Given the description of an element on the screen output the (x, y) to click on. 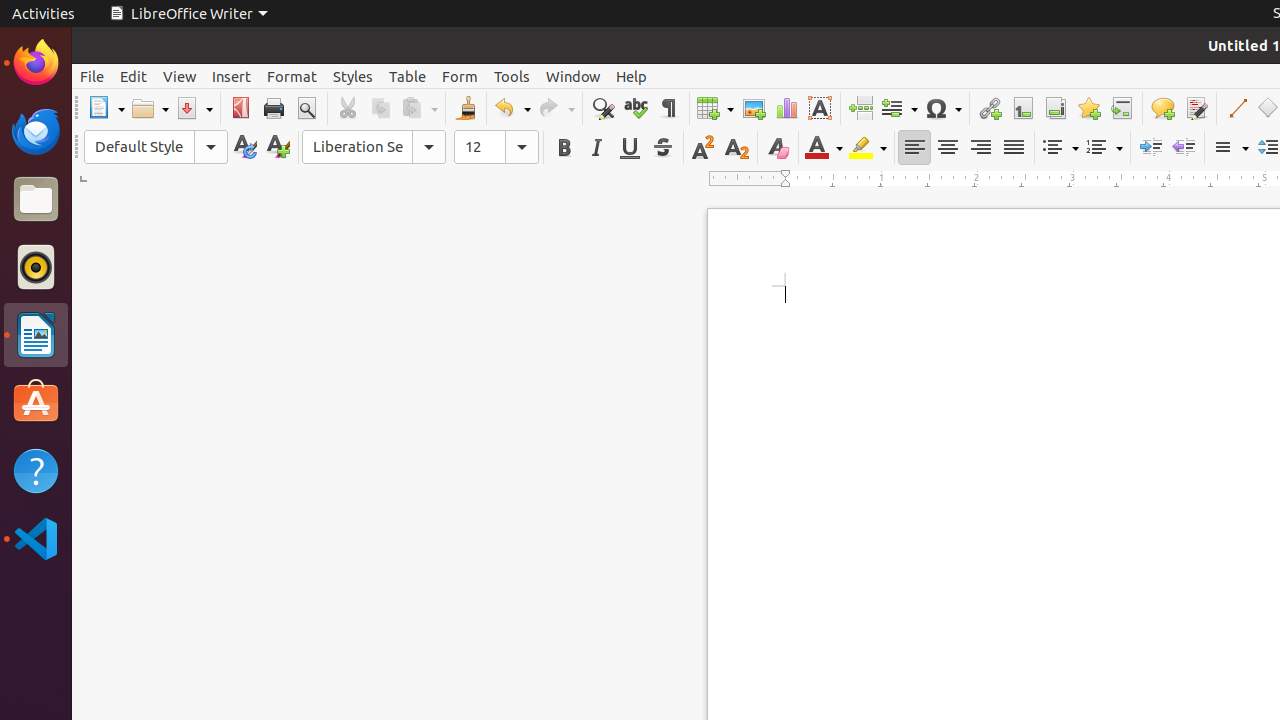
Undo Element type: push-button (512, 108)
Update Element type: push-button (244, 147)
Center Element type: toggle-button (947, 147)
